Given the description of an element on the screen output the (x, y) to click on. 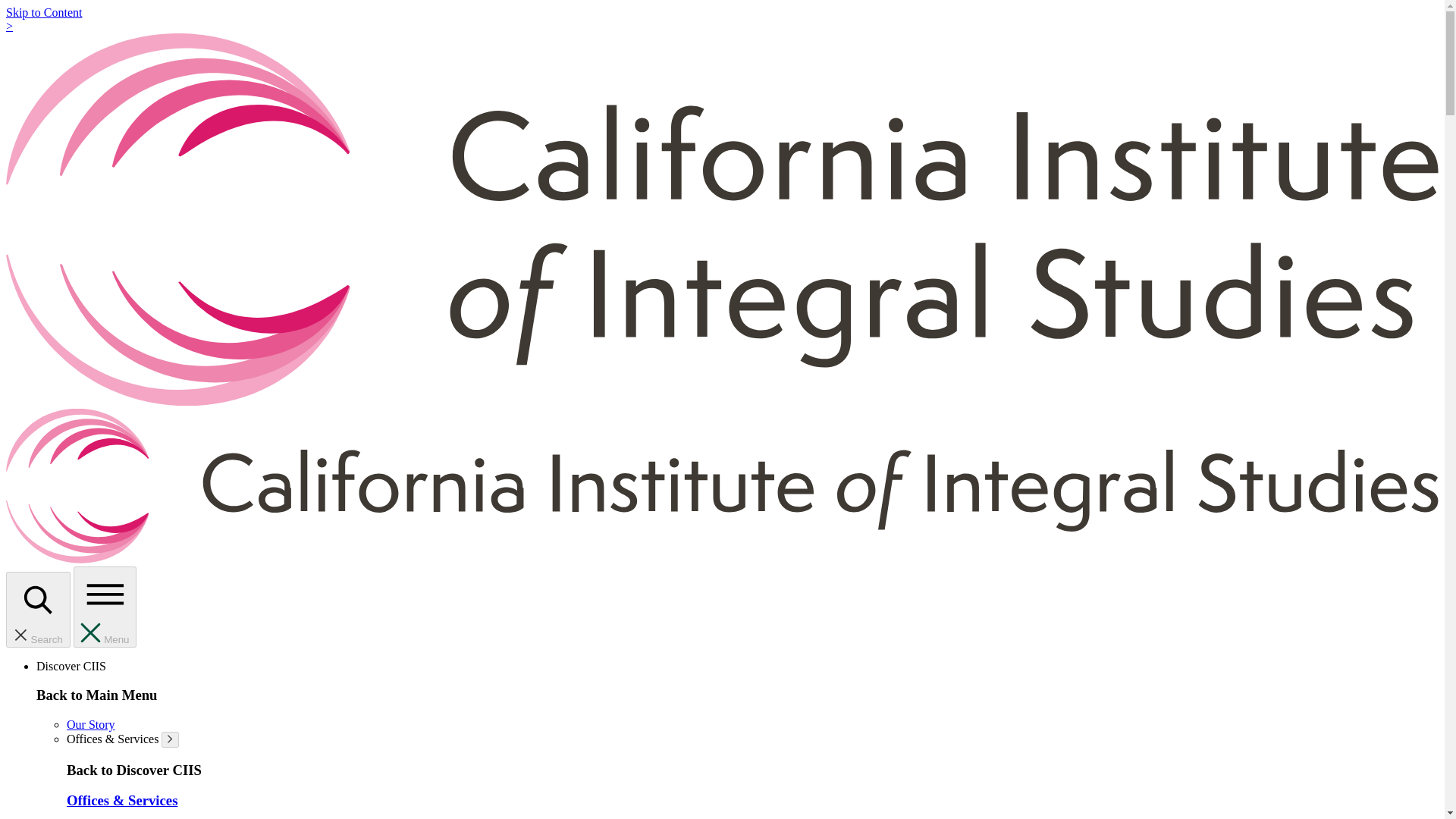
Our Story (90, 724)
Skip to Content (43, 11)
Search (37, 609)
Menu (105, 606)
